Given the description of an element on the screen output the (x, y) to click on. 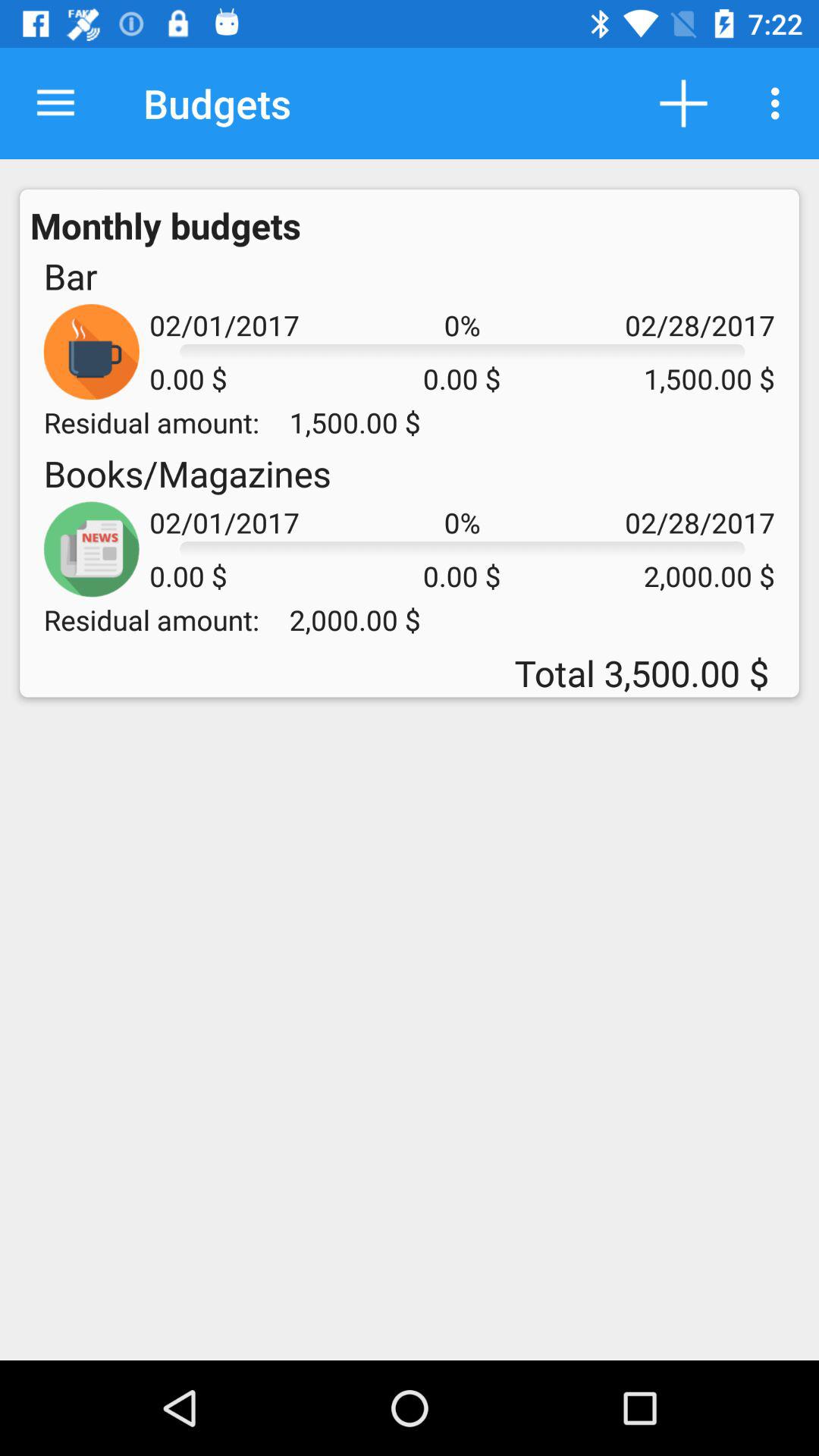
open item below residual amount: item (187, 473)
